Given the description of an element on the screen output the (x, y) to click on. 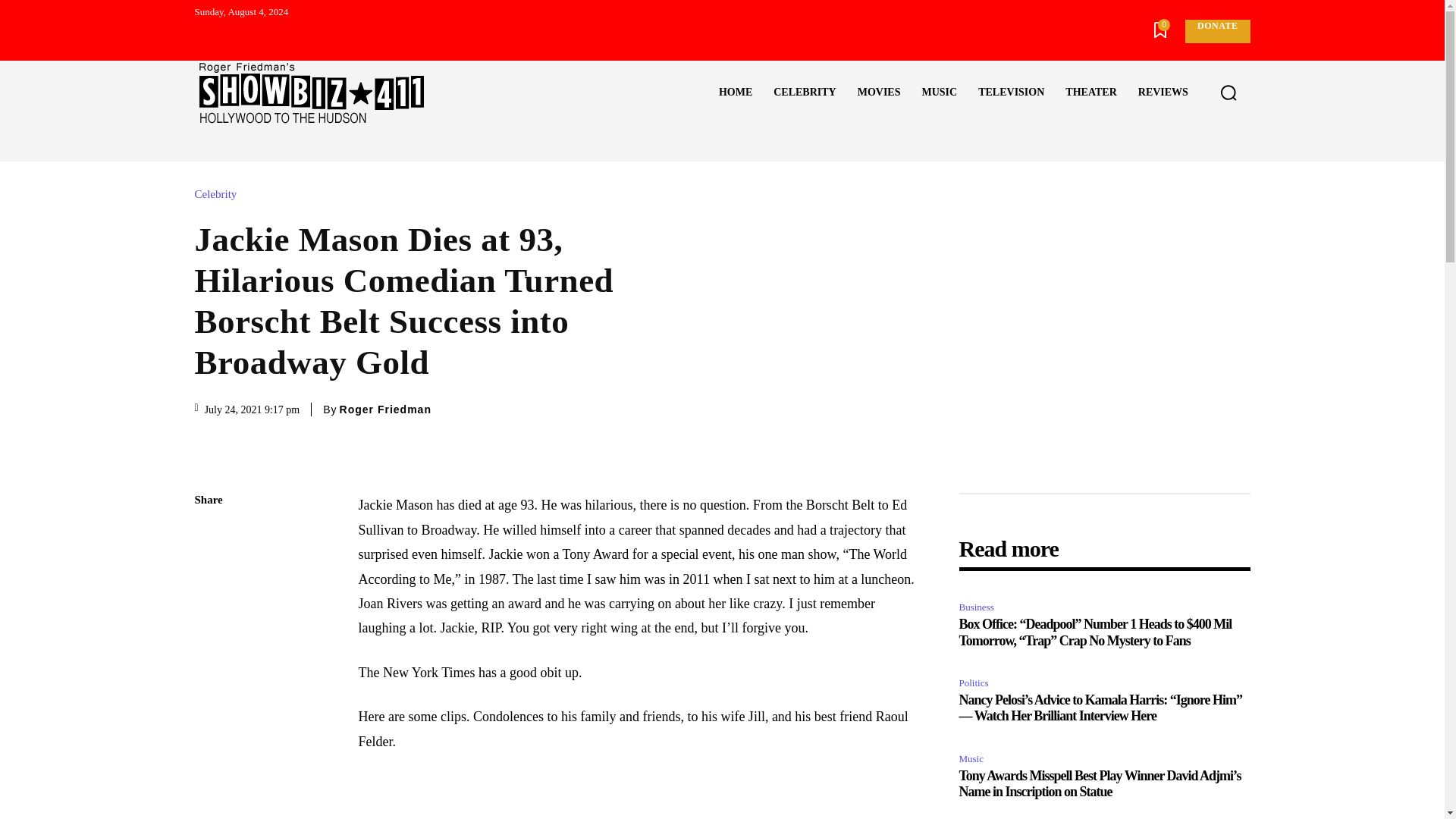
CELEBRITY (803, 92)
THEATER (1090, 92)
REVIEWS (1162, 92)
TELEVISION (1011, 92)
Donate (1217, 31)
Celebrity (218, 194)
MUSIC (939, 92)
MOVIES (879, 92)
DONATE (1217, 31)
HOME (734, 92)
